Given the description of an element on the screen output the (x, y) to click on. 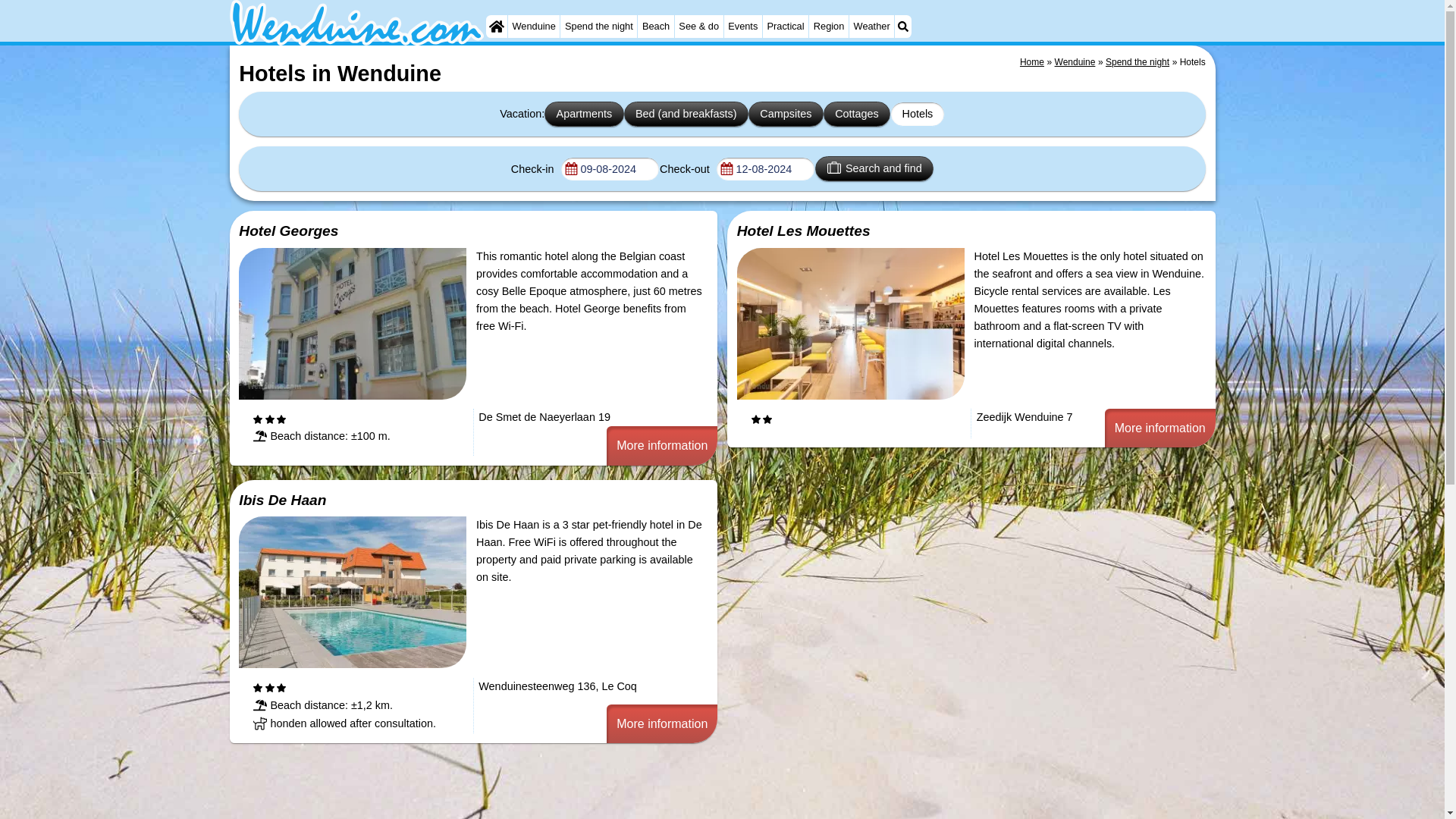
Practical (785, 26)
Advertisement (683, 788)
09-08-2024 (610, 168)
Spend the night (598, 26)
Region (828, 26)
12-08-2024 (765, 168)
Events (742, 26)
Wenduine (534, 26)
Beach (654, 26)
